Given the description of an element on the screen output the (x, y) to click on. 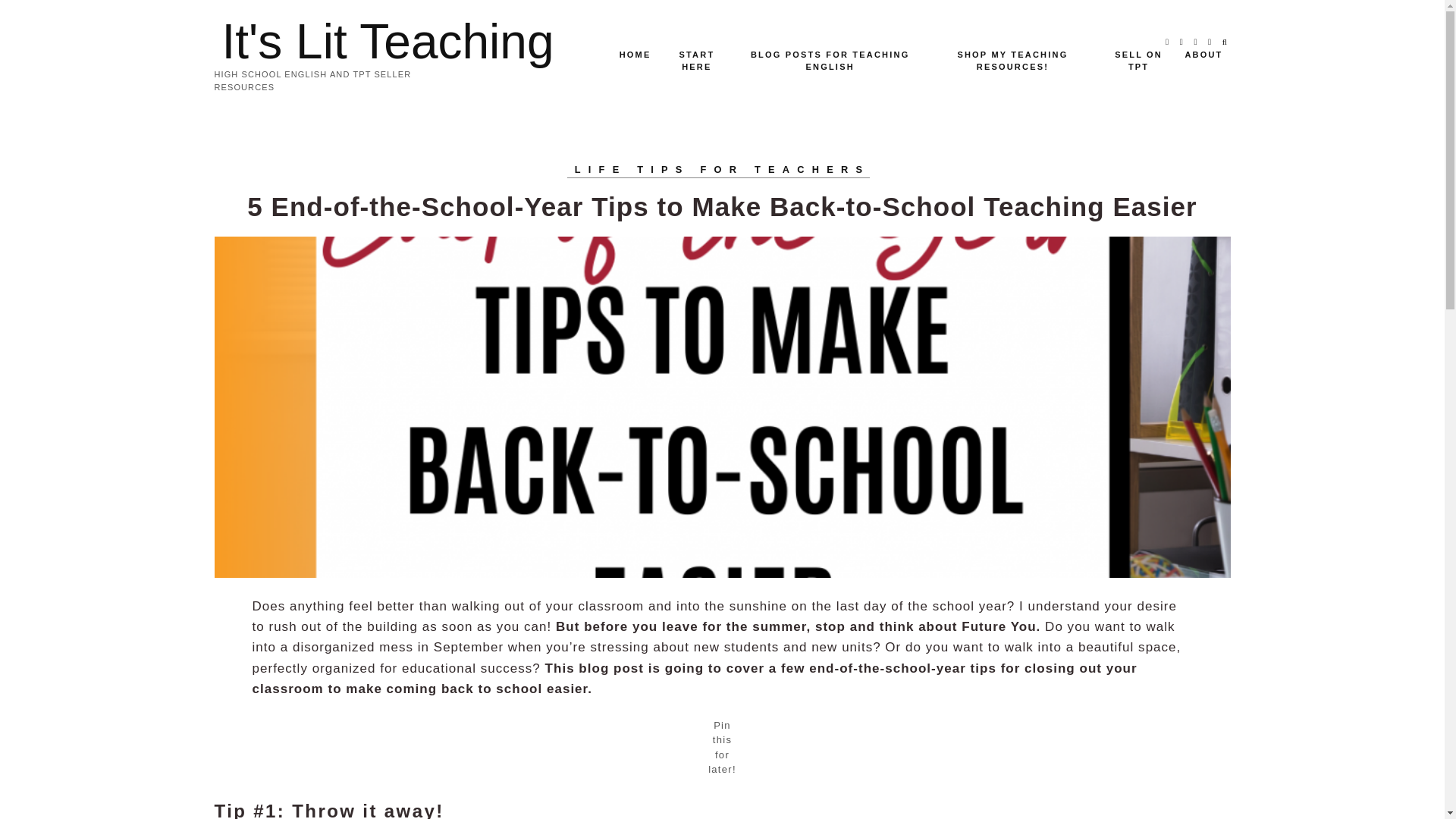
SELL ON TPT (1139, 60)
START HERE (695, 60)
SHOP MY TEACHING RESOURCES! (1013, 60)
It'S Lit Teaching (387, 41)
HOME (635, 54)
ABOUT (1204, 54)
BLOG POSTS FOR TEACHING ENGLISH (829, 60)
LIFE TIPS FOR TEACHERS (722, 169)
